Given the description of an element on the screen output the (x, y) to click on. 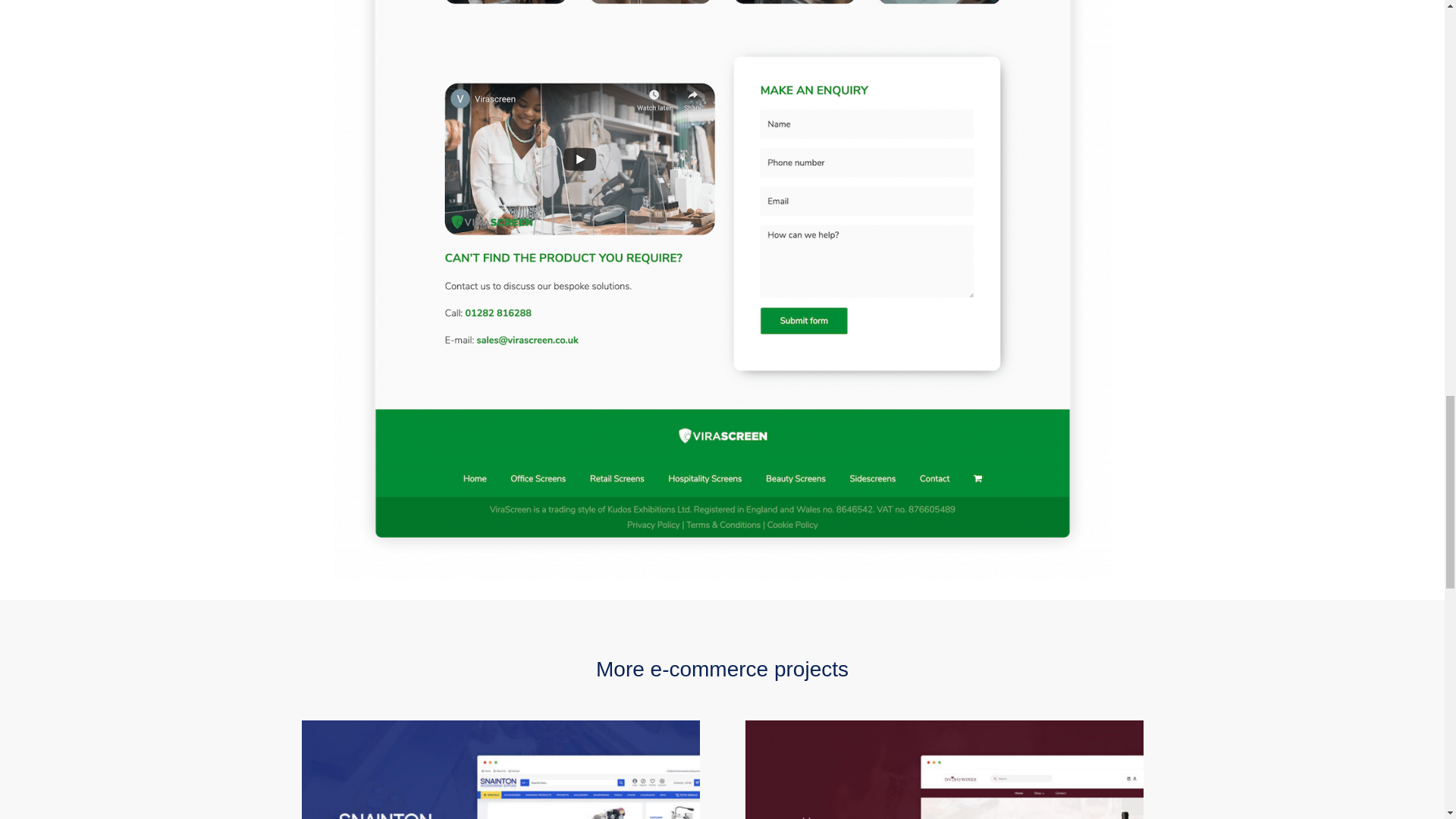
DVino-OG-1-600x315.jpg (943, 769)
